Given the description of an element on the screen output the (x, y) to click on. 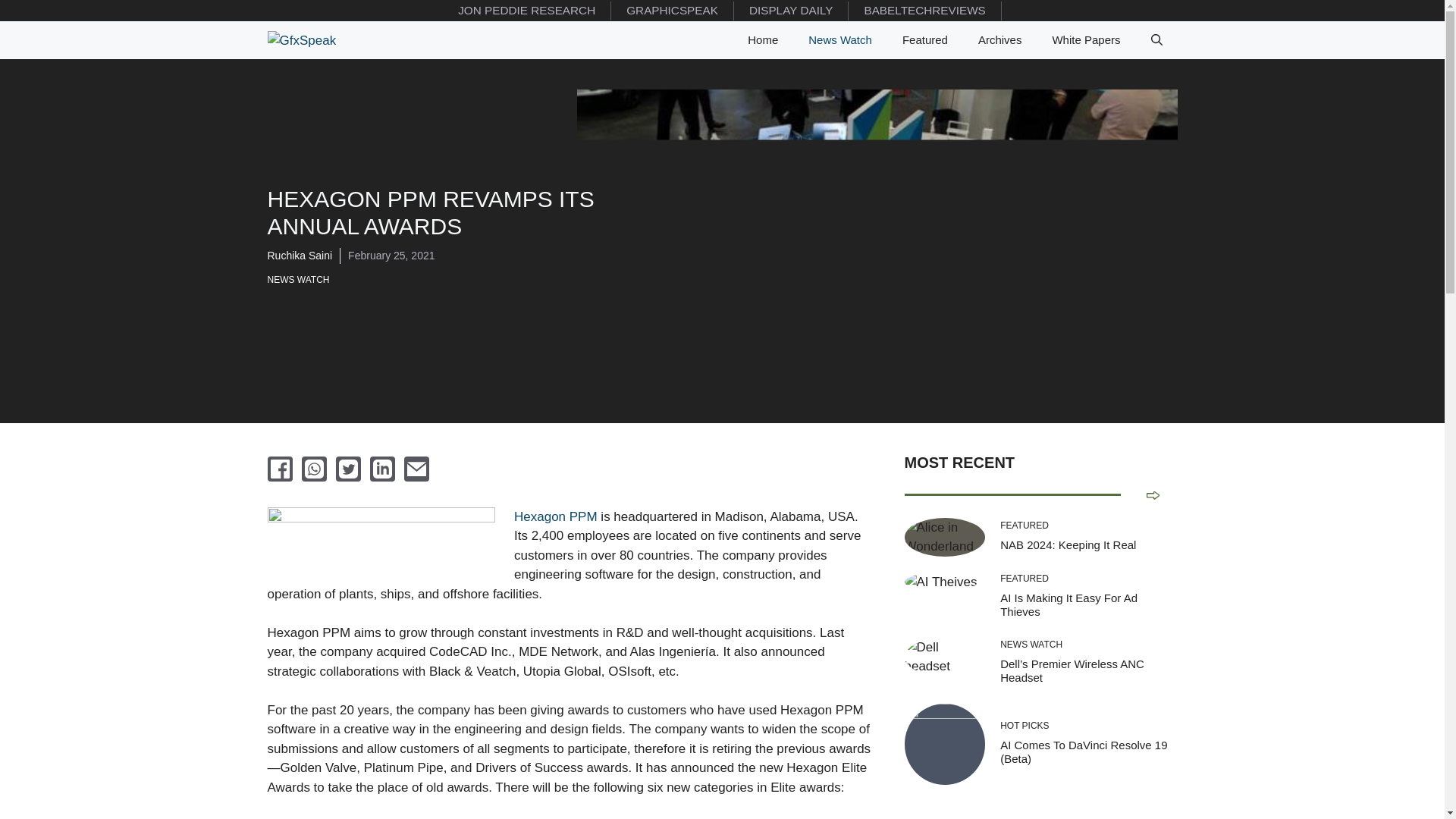
Hexagon PPM (554, 516)
DISPLAY DAILY (790, 10)
NEWS WATCH (301, 279)
GRAPHICSPEAK (672, 10)
BABELTECHREVIEWS (924, 10)
JON PEDDIE RESEARCH (526, 10)
Home (762, 39)
White Papers (1085, 39)
News Watch (839, 39)
Featured (924, 39)
Ruchika Saini (298, 255)
Archives (999, 39)
